Given the description of an element on the screen output the (x, y) to click on. 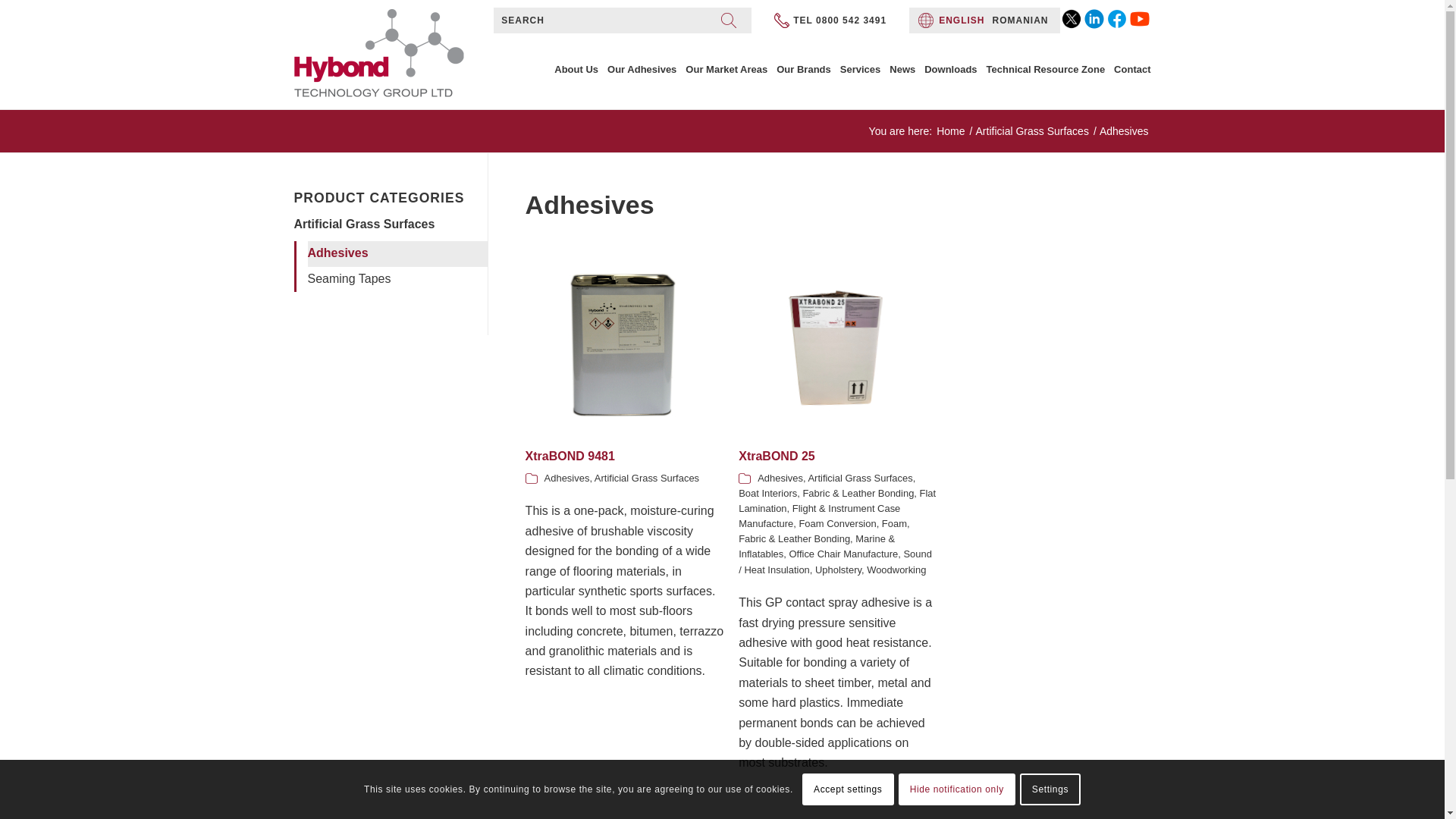
Our Market Areas (726, 69)
Artificial Grass Surfaces (1032, 131)
0800 542 3491 (850, 20)
ENGLISH (961, 20)
Permanent Link: XtraBOND 9481 (569, 455)
Permanent Link: XtraBOND 25 (775, 455)
ROMANIAN (1020, 20)
